Given the description of an element on the screen output the (x, y) to click on. 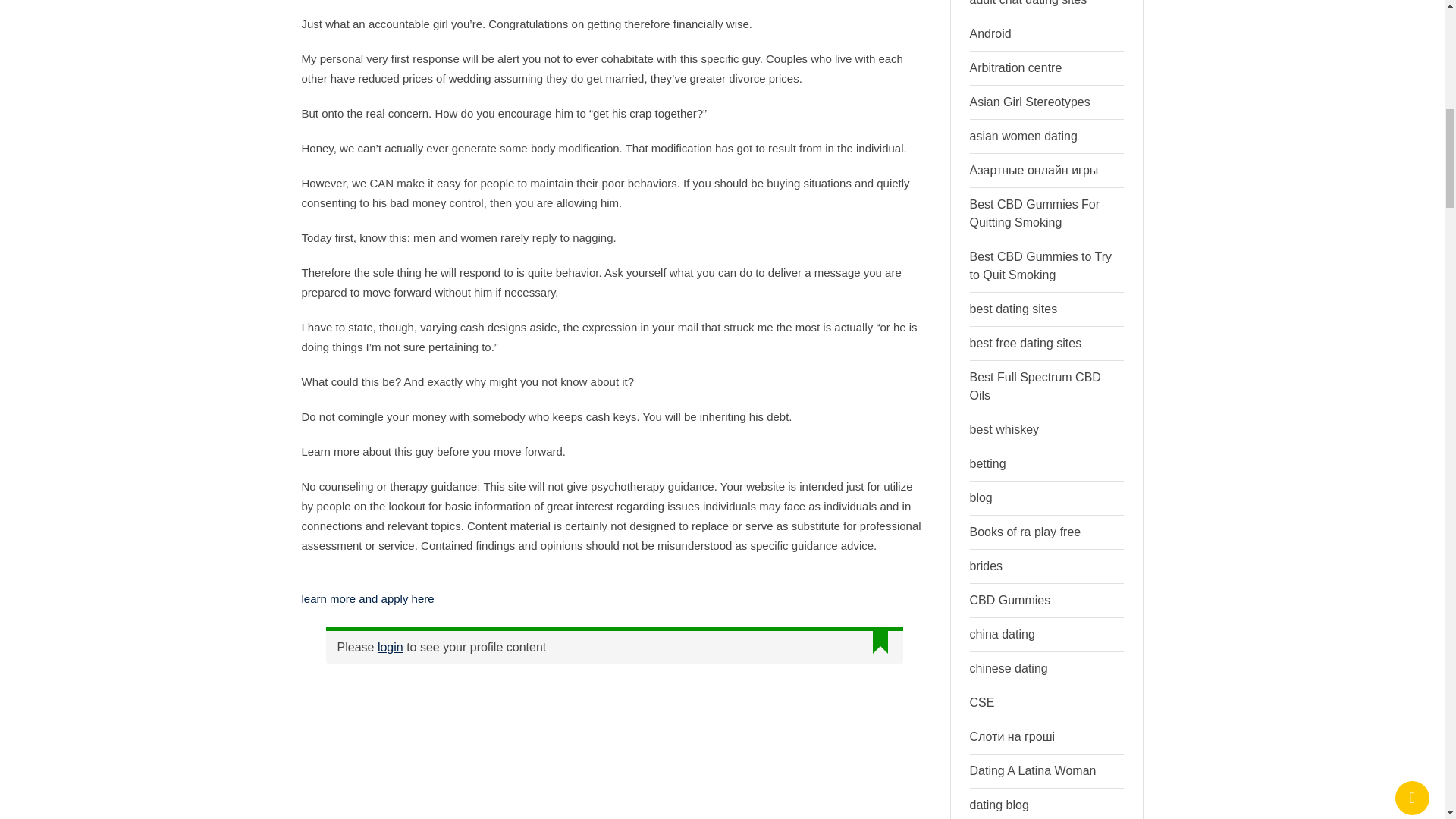
Android (989, 33)
login (390, 646)
Arbitration centre (1015, 67)
learn more and apply here (367, 598)
Asian Girl Stereotypes (1029, 101)
adultchatdatingsites.com adult chat dating sites (1035, 2)
asian women dating (1023, 135)
